Given the description of an element on the screen output the (x, y) to click on. 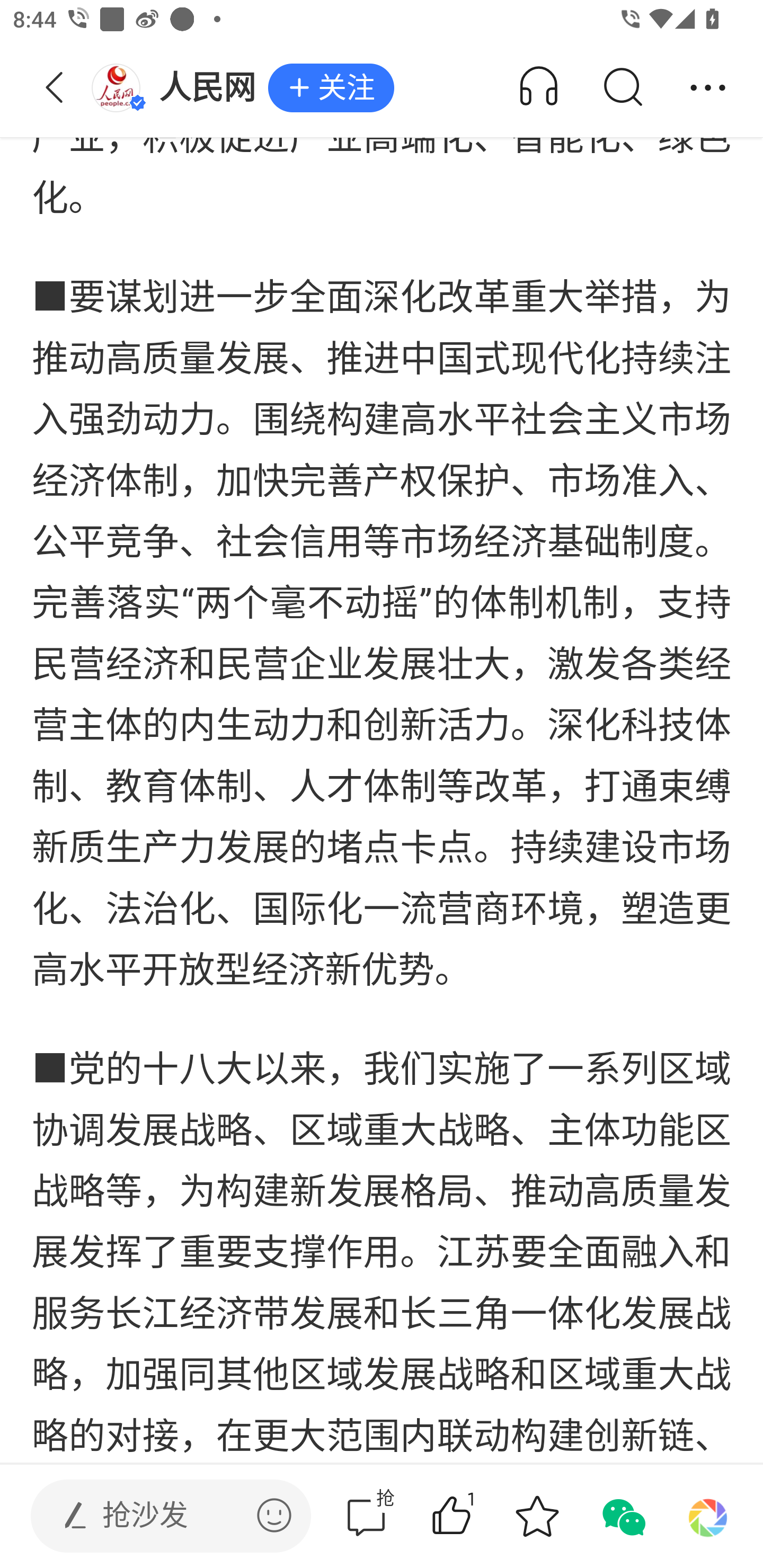
人民网 (179, 87)
搜索  (622, 87)
分享  (707, 87)
 返回 (54, 87)
 关注 (330, 88)
发表评论  抢沙发 发表评论  (155, 1516)
抢评论  抢 评论 (365, 1516)
1赞 (476, 1516)
收藏  (536, 1516)
分享到微信  (622, 1516)
分享到朋友圈 (707, 1516)
 (274, 1515)
